Given the description of an element on the screen output the (x, y) to click on. 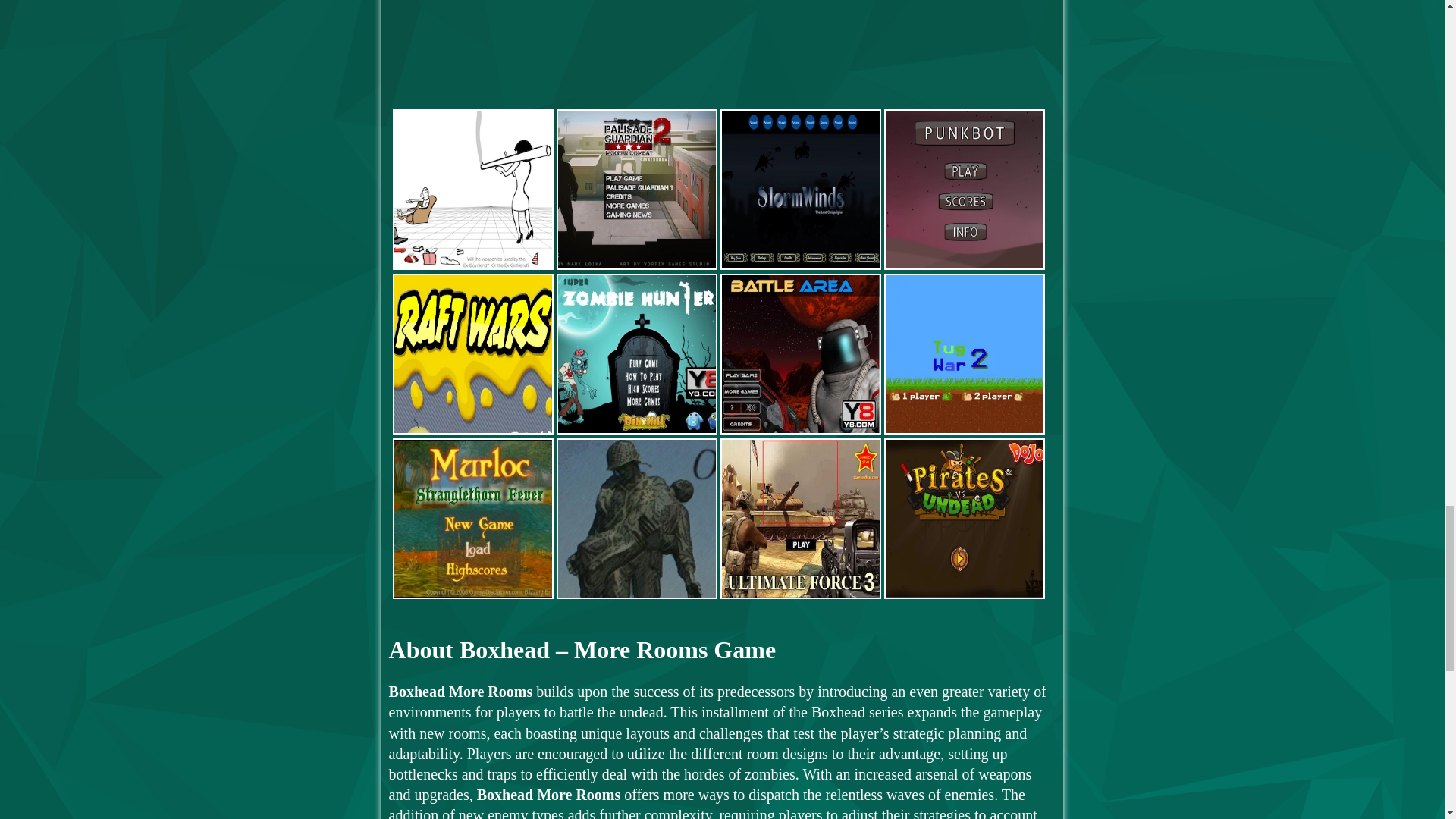
Advertisement (722, 52)
